Given the description of an element on the screen output the (x, y) to click on. 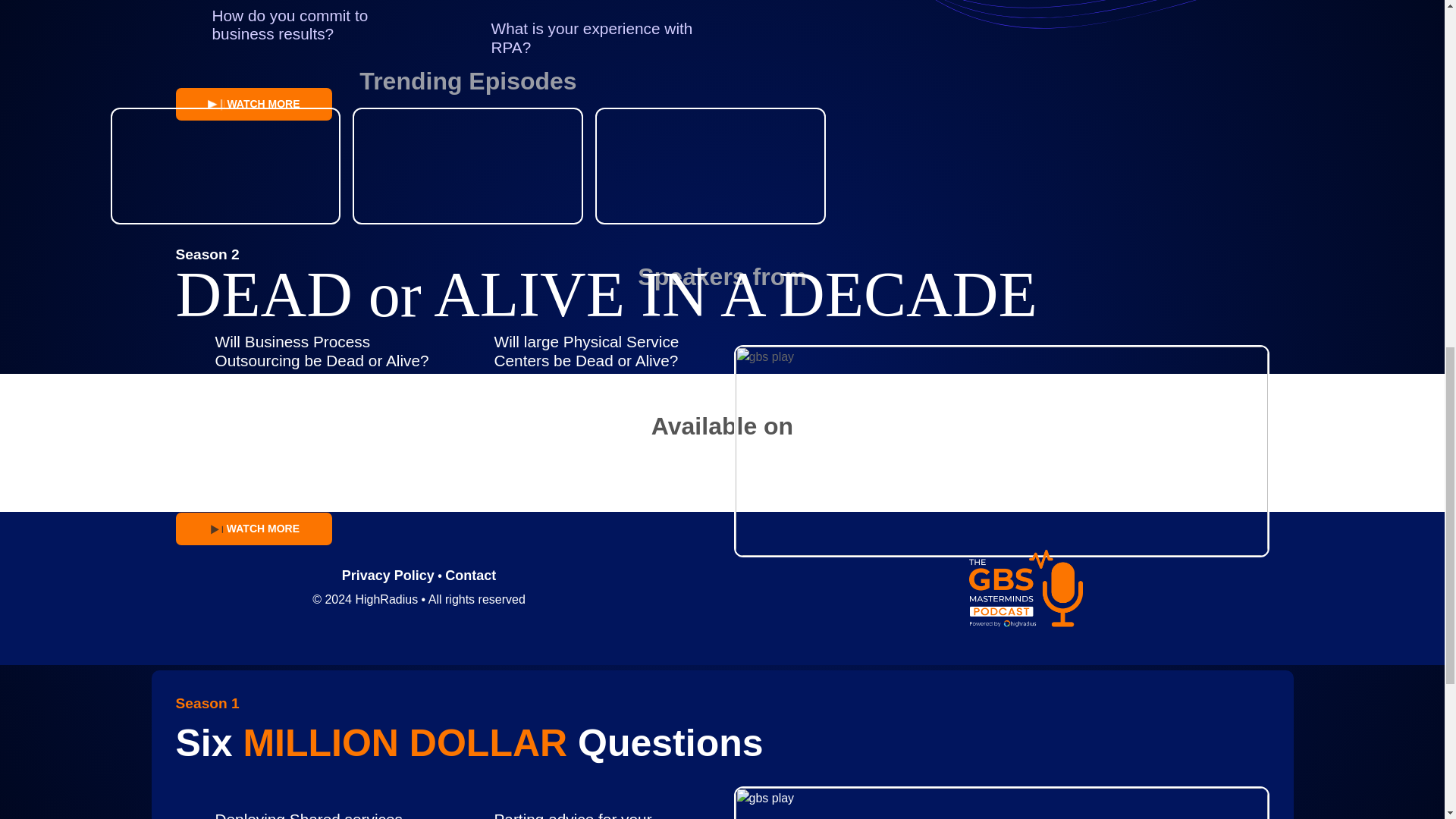
Privacy Policy (387, 575)
WATCH MORE (253, 528)
Contact (470, 575)
WATCH MORE (253, 103)
